Given the description of an element on the screen output the (x, y) to click on. 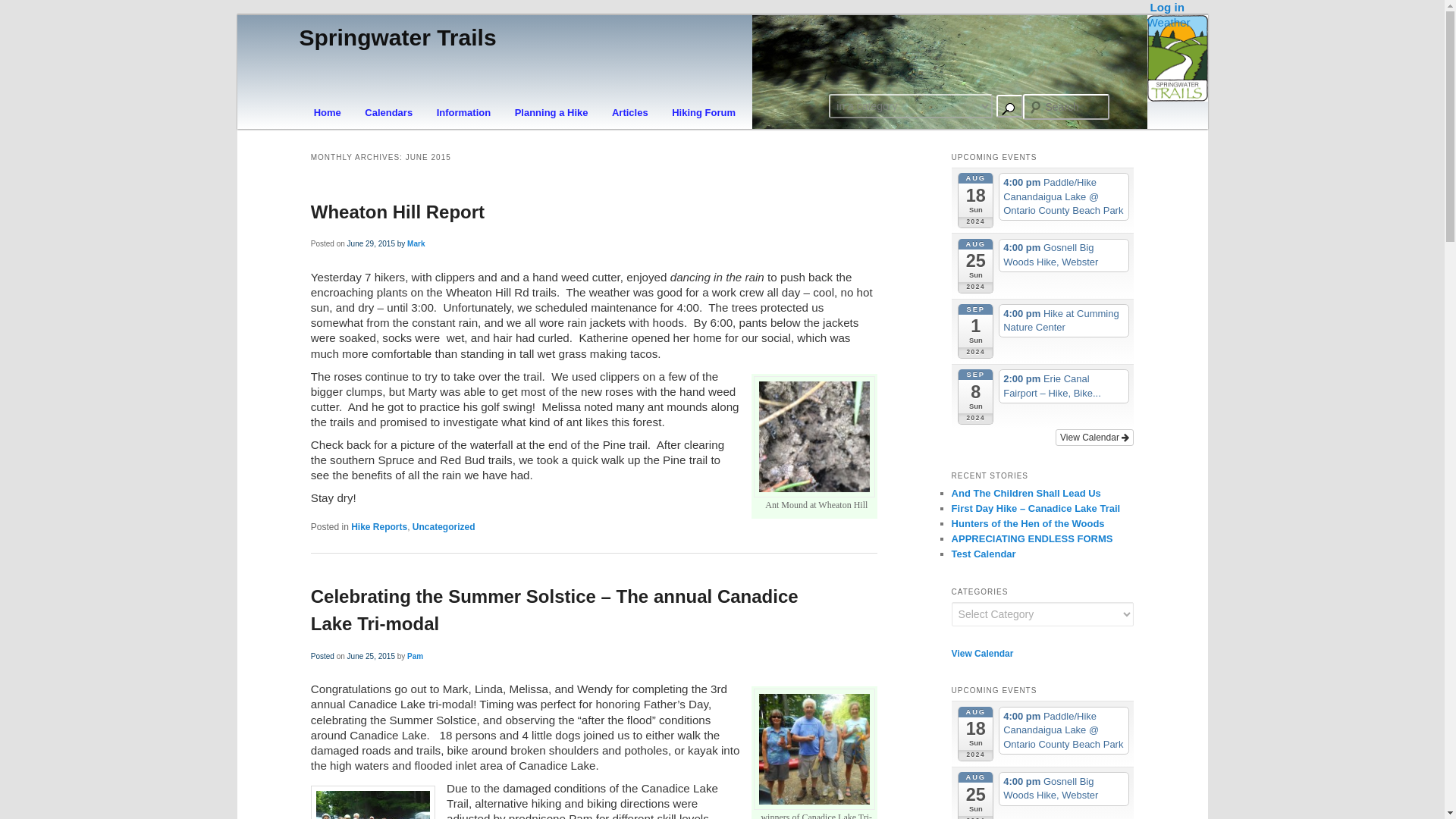
View old articles by category (629, 112)
Springwater Trails (397, 37)
10:18 am (370, 655)
Springwater, New York Weather Forecast (1168, 21)
Frequently Asked Questions (463, 112)
Springwater Trails (397, 37)
Log in (1167, 6)
Click to search (1009, 106)
11:46 pm (386, 243)
